Given the description of an element on the screen output the (x, y) to click on. 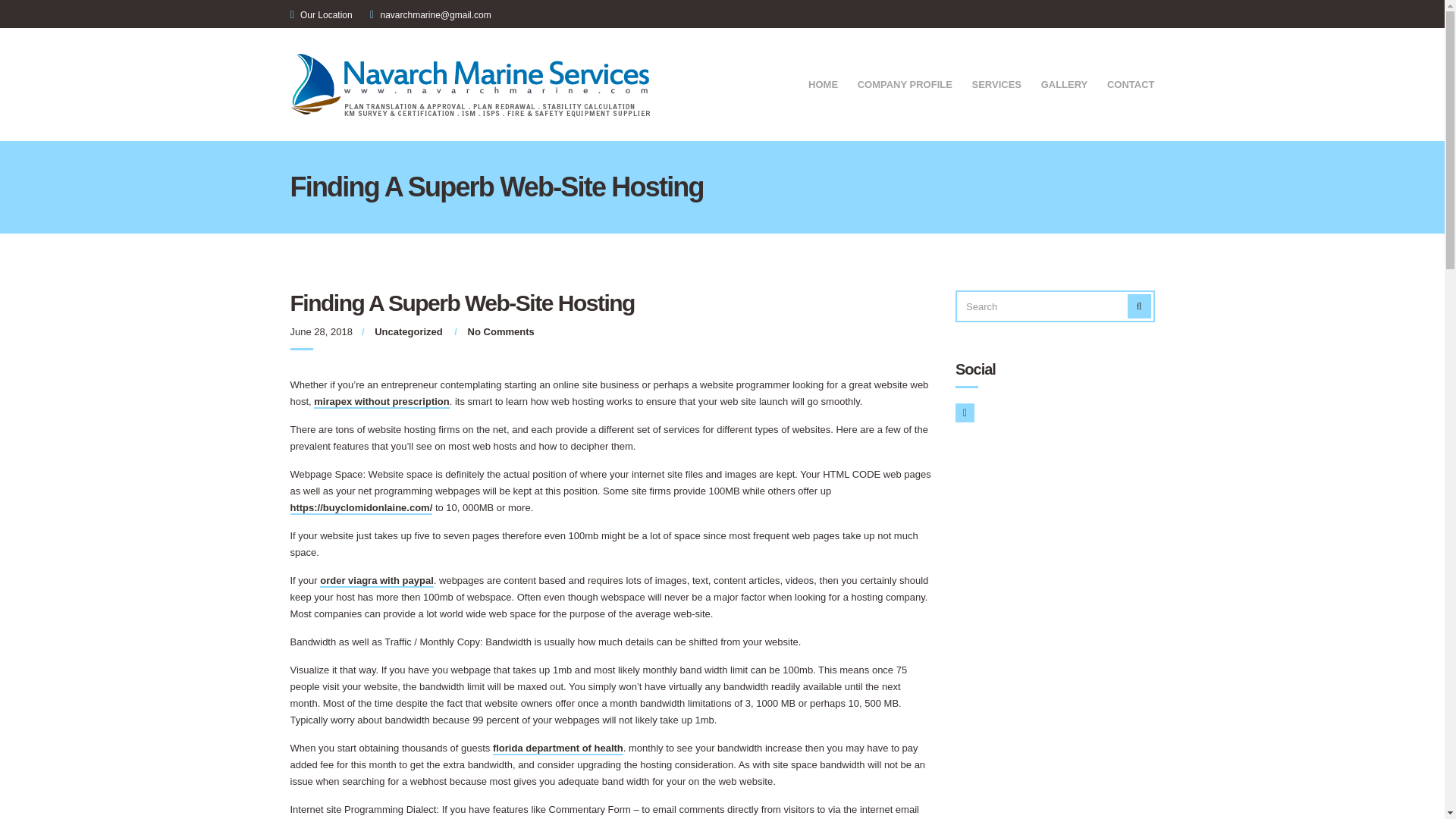
Our Location (325, 14)
order viagra with paypal (376, 581)
mirapex without prescription (381, 401)
No Comments (500, 331)
HOME (823, 85)
GALLERY (1064, 85)
SEARCH (1138, 306)
florida department of health (558, 748)
CONTACT (1130, 85)
Uncategorized (408, 331)
